Given the description of an element on the screen output the (x, y) to click on. 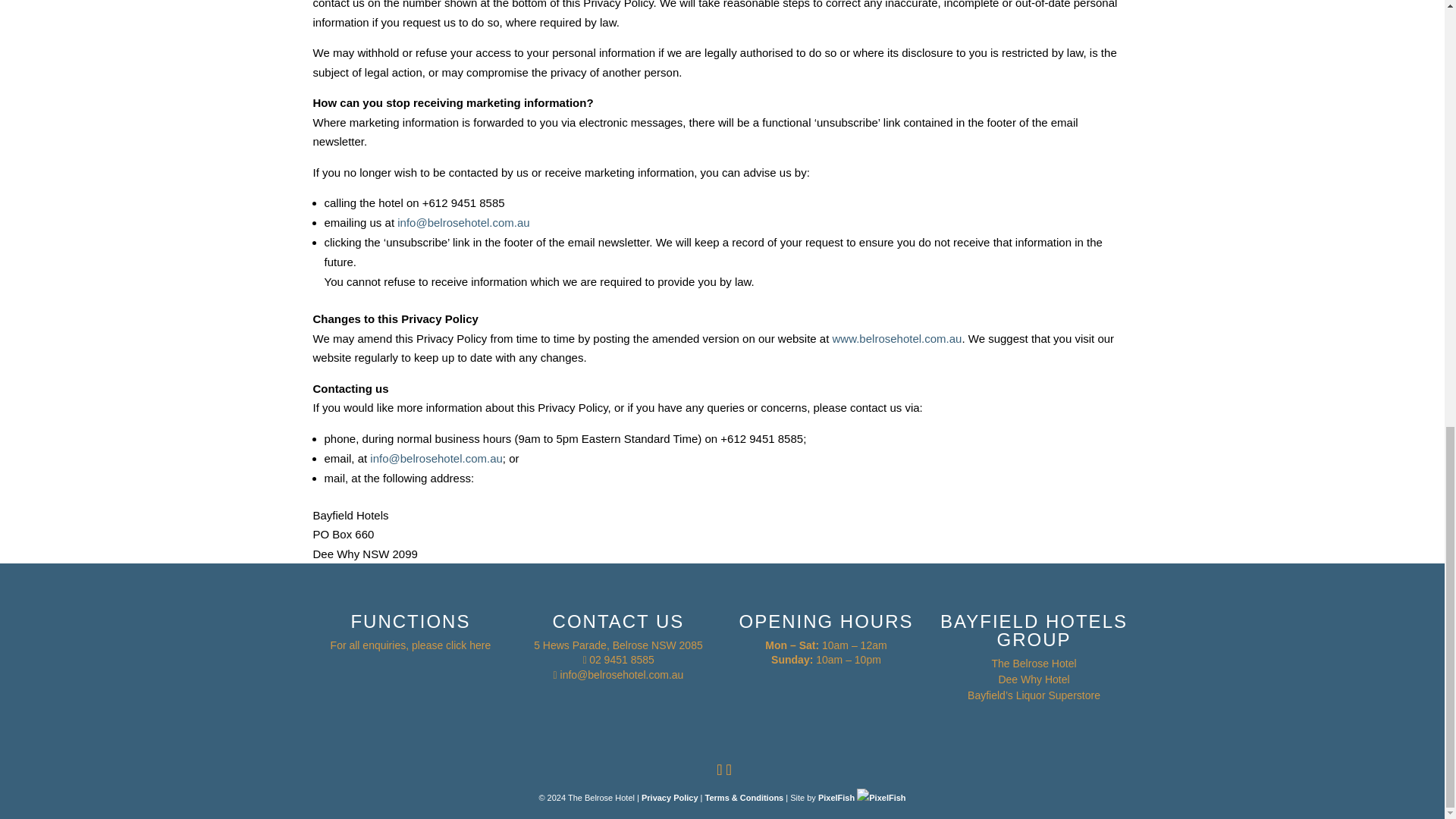
PixelFish (861, 797)
5 Hews Parade, Belrose NSW 2085 (618, 645)
Privacy Policy (670, 797)
02 9451 8585 (621, 659)
Dee Why Hotel (1032, 679)
The Belrose Hotel (1033, 663)
www.belrosehotel.com.au (897, 338)
click here (467, 645)
